Given the description of an element on the screen output the (x, y) to click on. 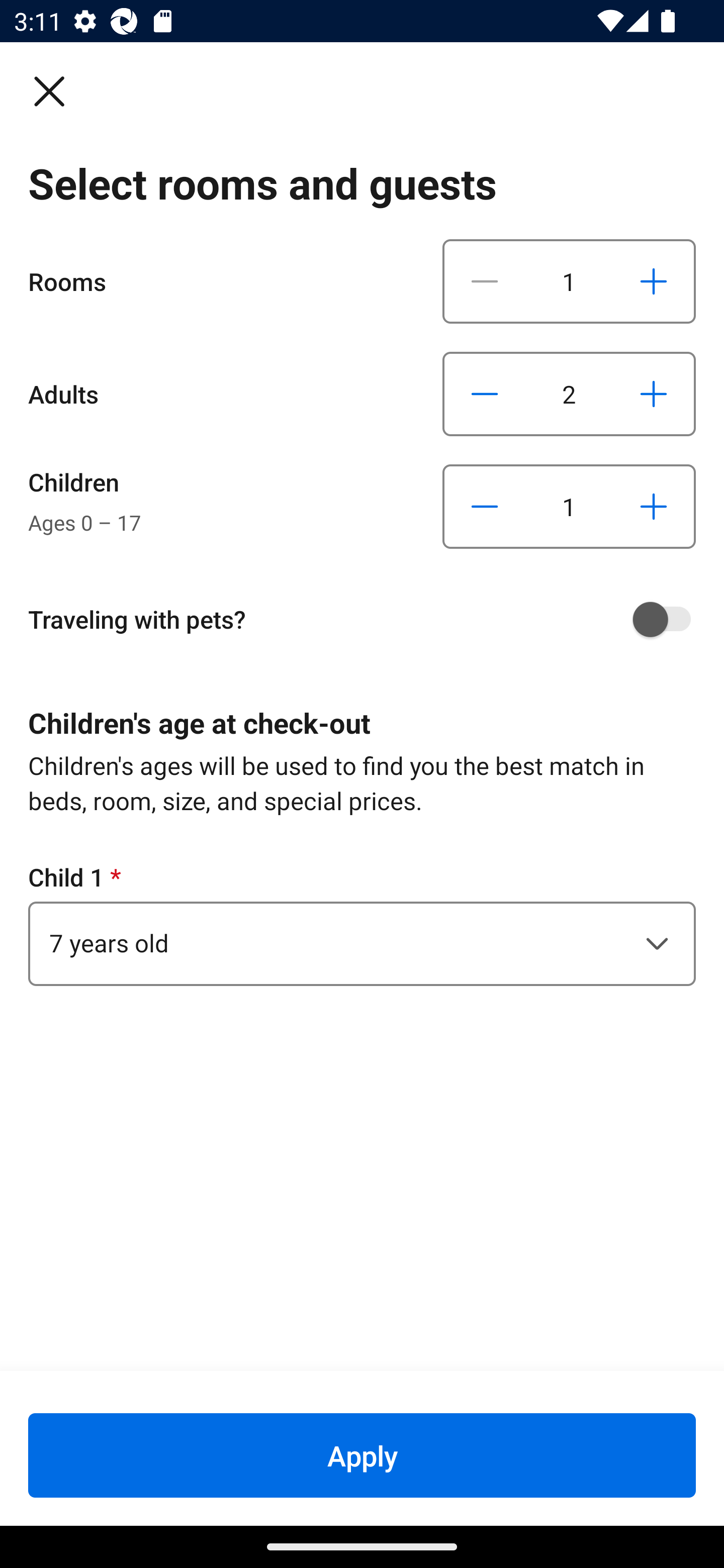
Decrease (484, 281)
Increase (653, 281)
Decrease (484, 393)
Increase (653, 393)
Decrease (484, 506)
Increase (653, 506)
Traveling with pets? (369, 619)
Child 1
required Child 1 * 7 years old (361, 922)
Apply (361, 1454)
